Given the description of an element on the screen output the (x, y) to click on. 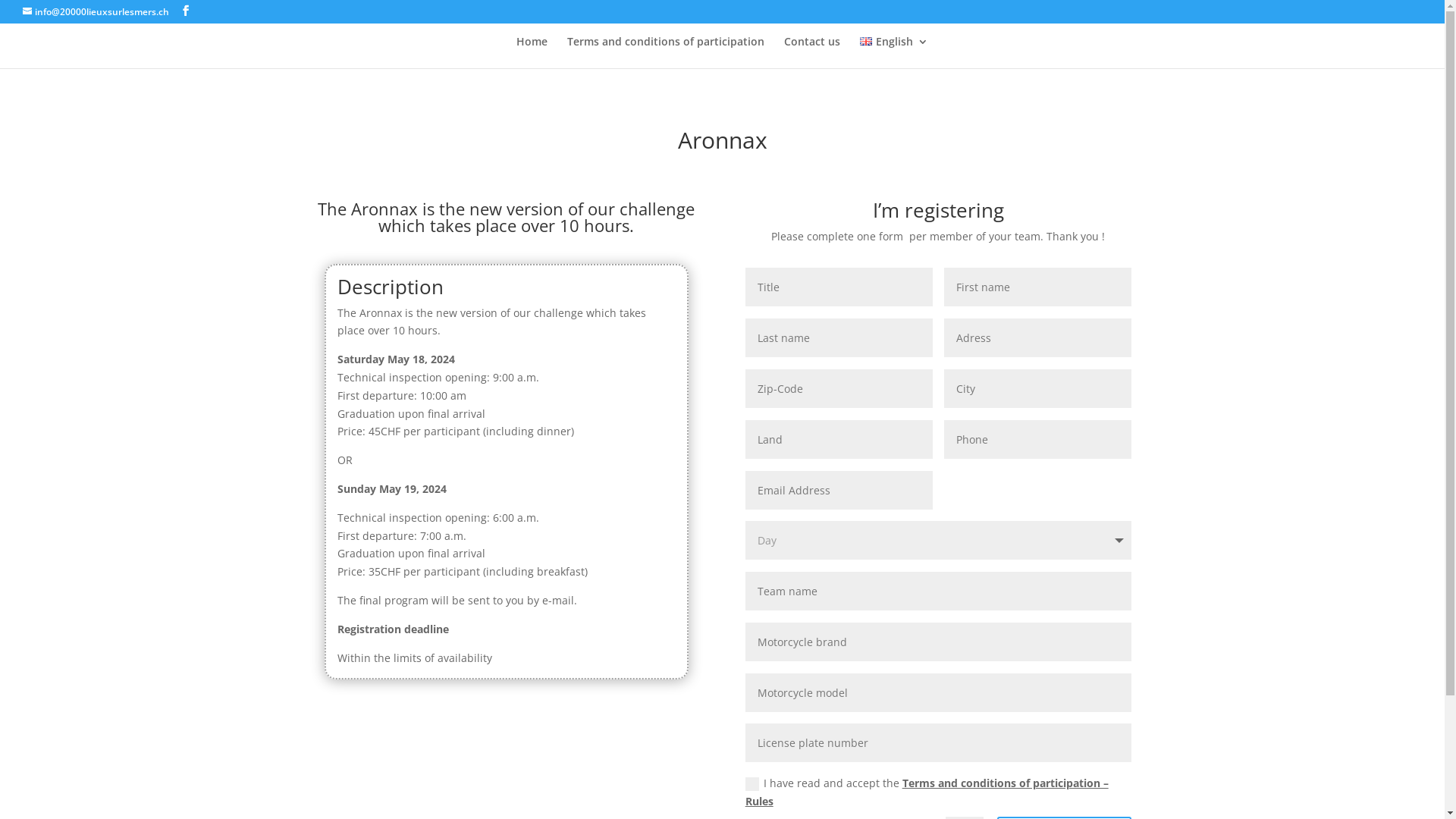
Contact us Element type: text (812, 52)
info@20000lieuxsurlesmers.ch Element type: text (95, 11)
Home Element type: text (531, 52)
English Element type: text (893, 52)
Terms and conditions of participation Element type: text (665, 52)
